Given the description of an element on the screen output the (x, y) to click on. 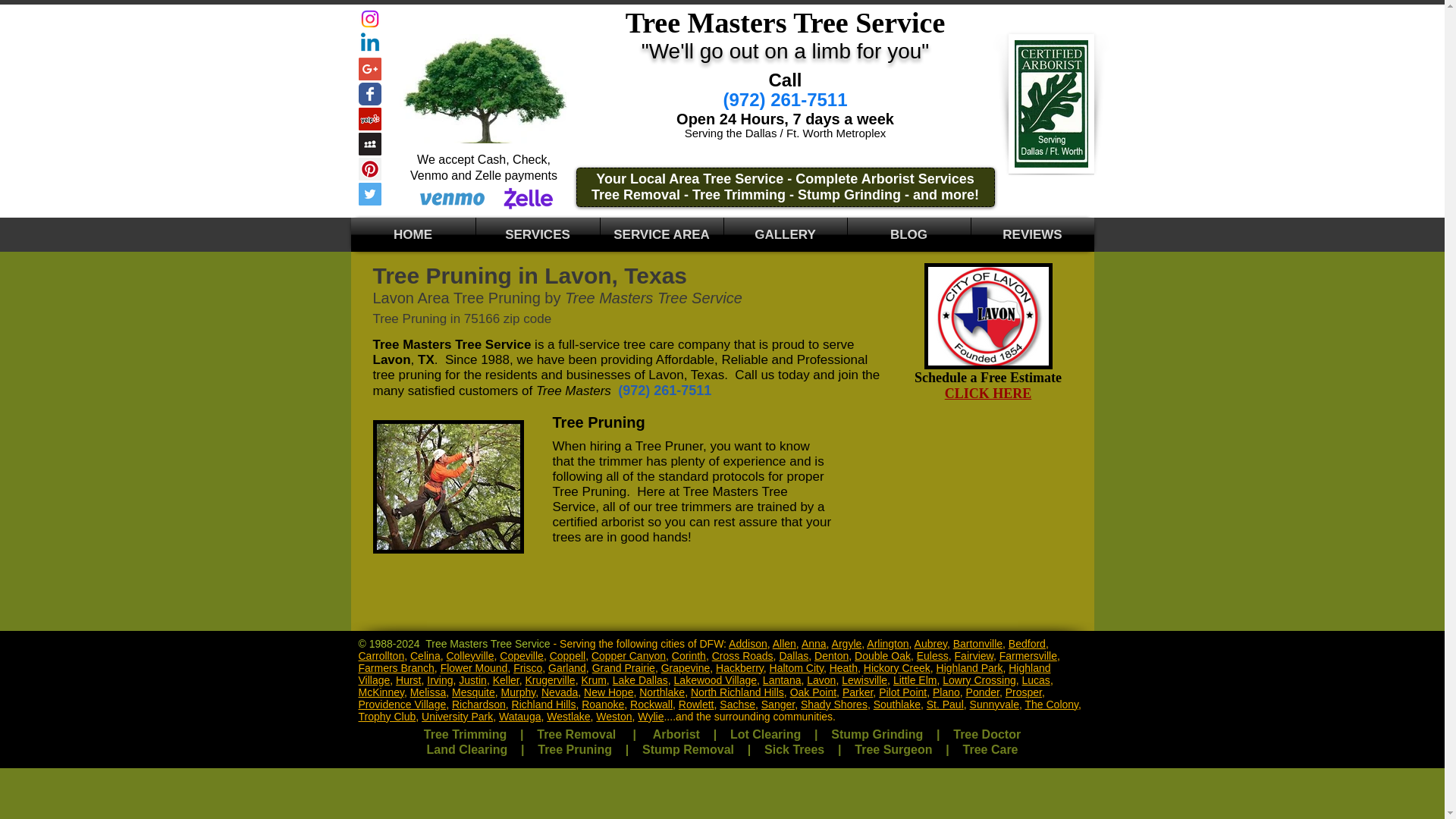
SERVICE AREA (661, 234)
Lavon Tree Pruning (448, 486)
BLOG (909, 234)
Tree Pruning Lavon, TX (987, 315)
REVIEWS (1032, 234)
GALLERY (784, 234)
Pay Tree Masters with Venmo (451, 197)
SERVICES (537, 234)
Pay Tree Masters With Zelle (528, 197)
Tree Masters Tree Service (482, 88)
HOME (412, 234)
